Given the description of an element on the screen output the (x, y) to click on. 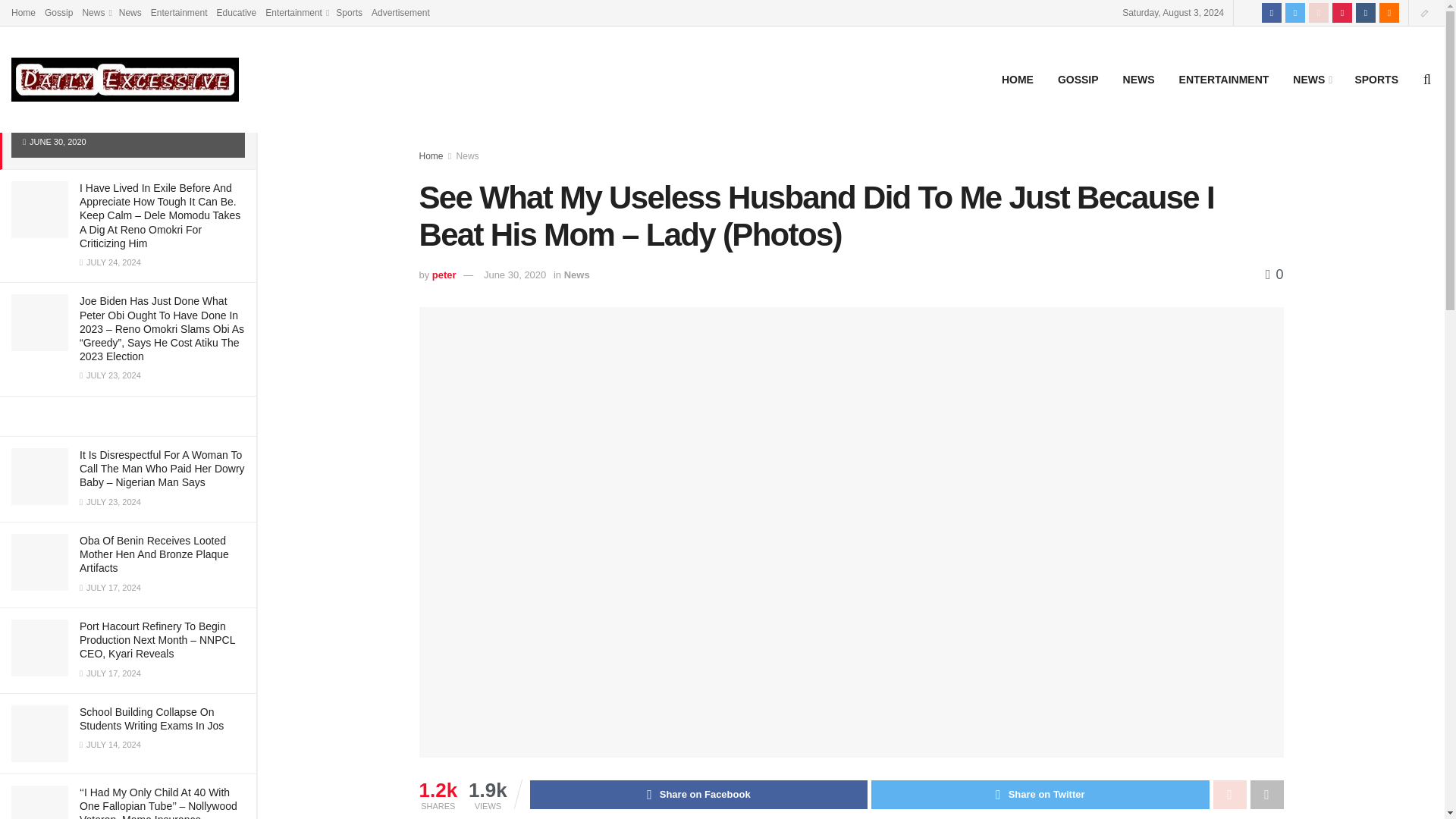
Filter (227, 13)
Entertainment (179, 12)
News (95, 12)
Entertainment (295, 12)
Gossip (58, 12)
School Building Collapse On Students Writing Exams In Jos (152, 718)
Home (22, 12)
Educative (236, 12)
